Given the description of an element on the screen output the (x, y) to click on. 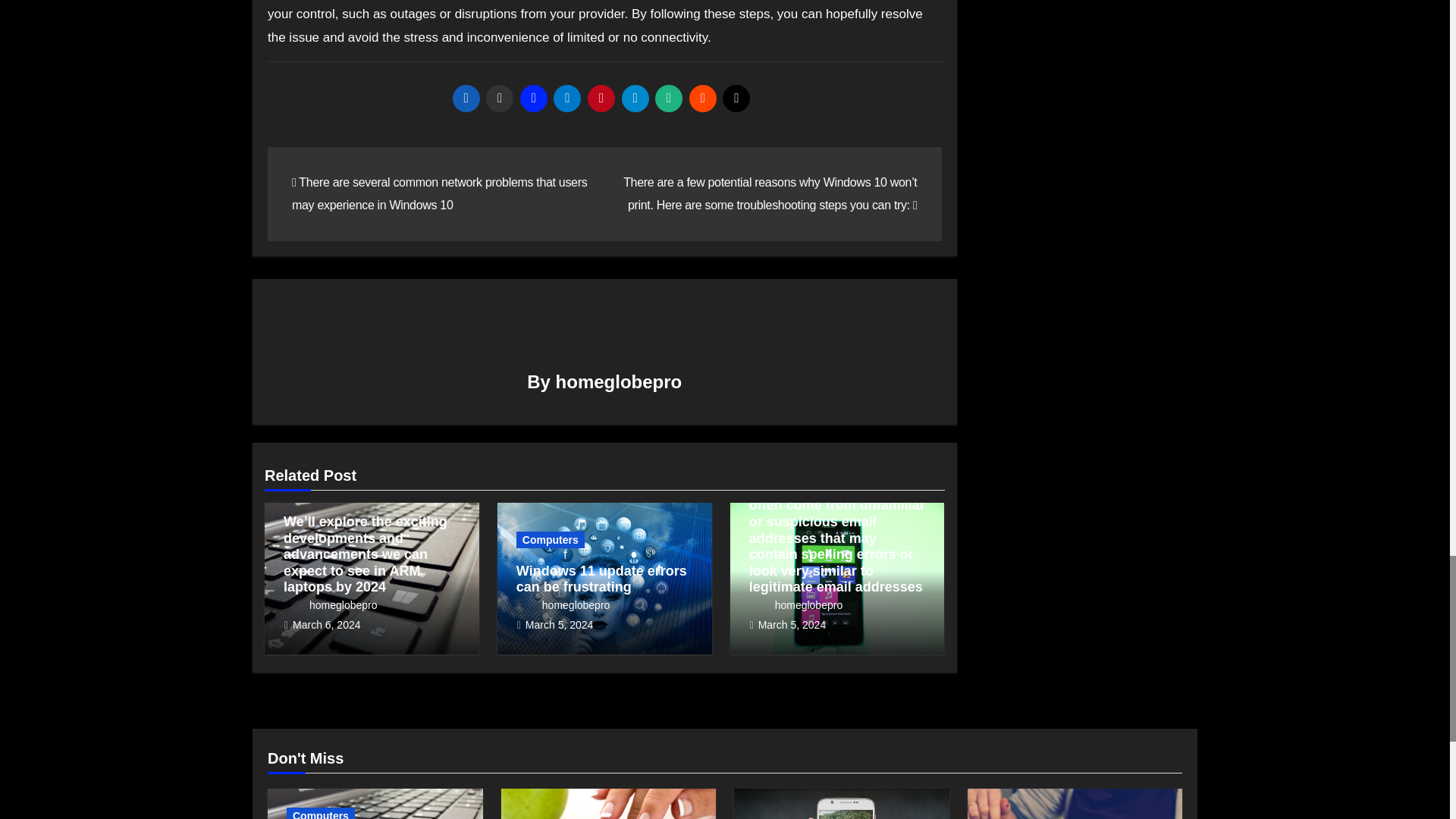
March 6, 2024 (326, 624)
homeglobepro (619, 381)
Permalink to: Windows 11 update errors can be frustrating (601, 579)
homeglobepro (330, 604)
